Given the description of an element on the screen output the (x, y) to click on. 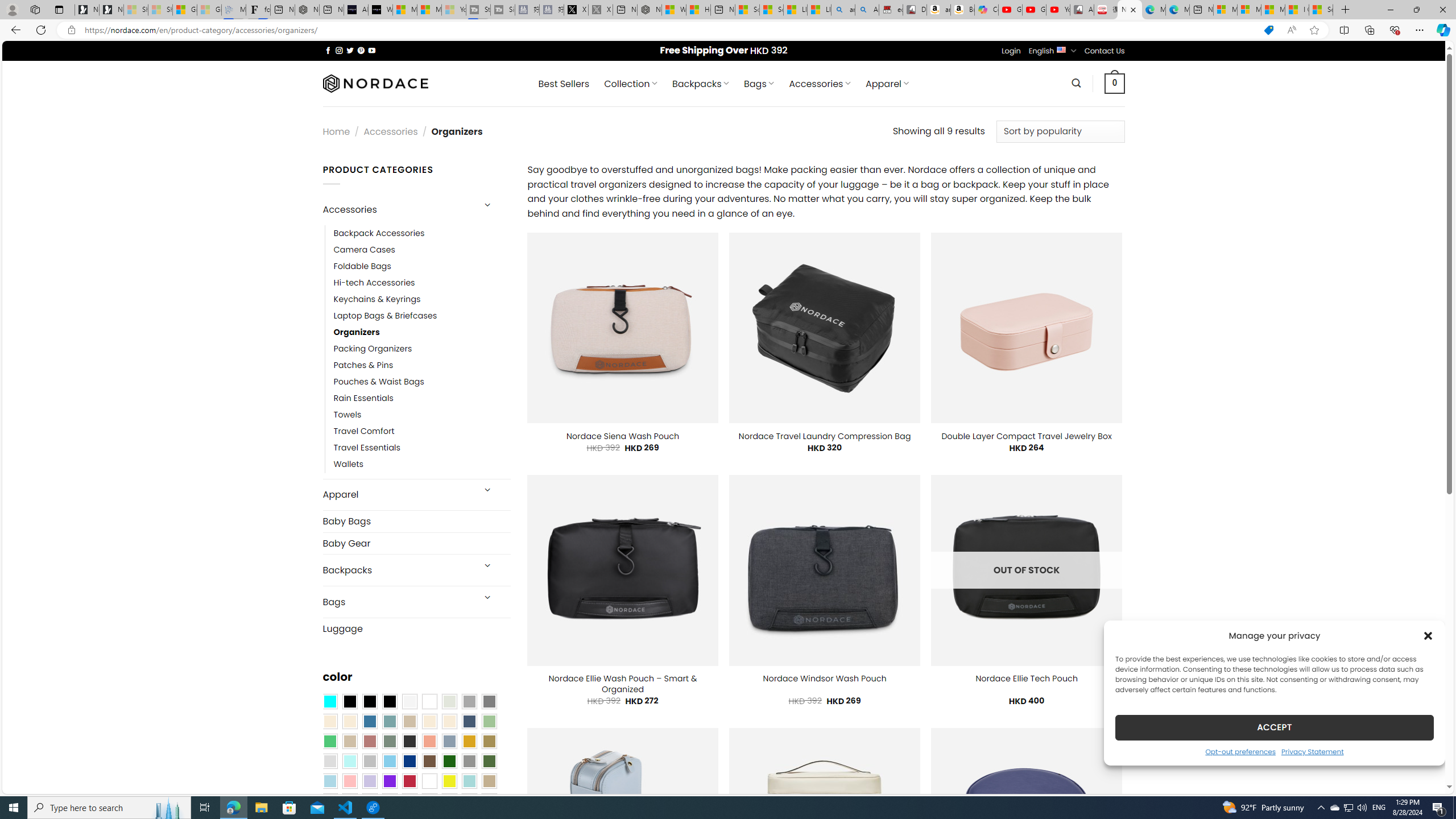
Search (1076, 83)
Nordace (374, 83)
New tab (1201, 9)
Emerald Green (329, 741)
Login (1010, 50)
Pouches & Waist Bags (422, 381)
Packing Organizers (422, 348)
Close tab (1133, 9)
Luggage (416, 627)
Nordace Siena Wash Pouch (622, 436)
Pouches & Waist Bags (378, 381)
Apparel (397, 494)
Navy Blue (408, 761)
White (429, 780)
